Given the description of an element on the screen output the (x, y) to click on. 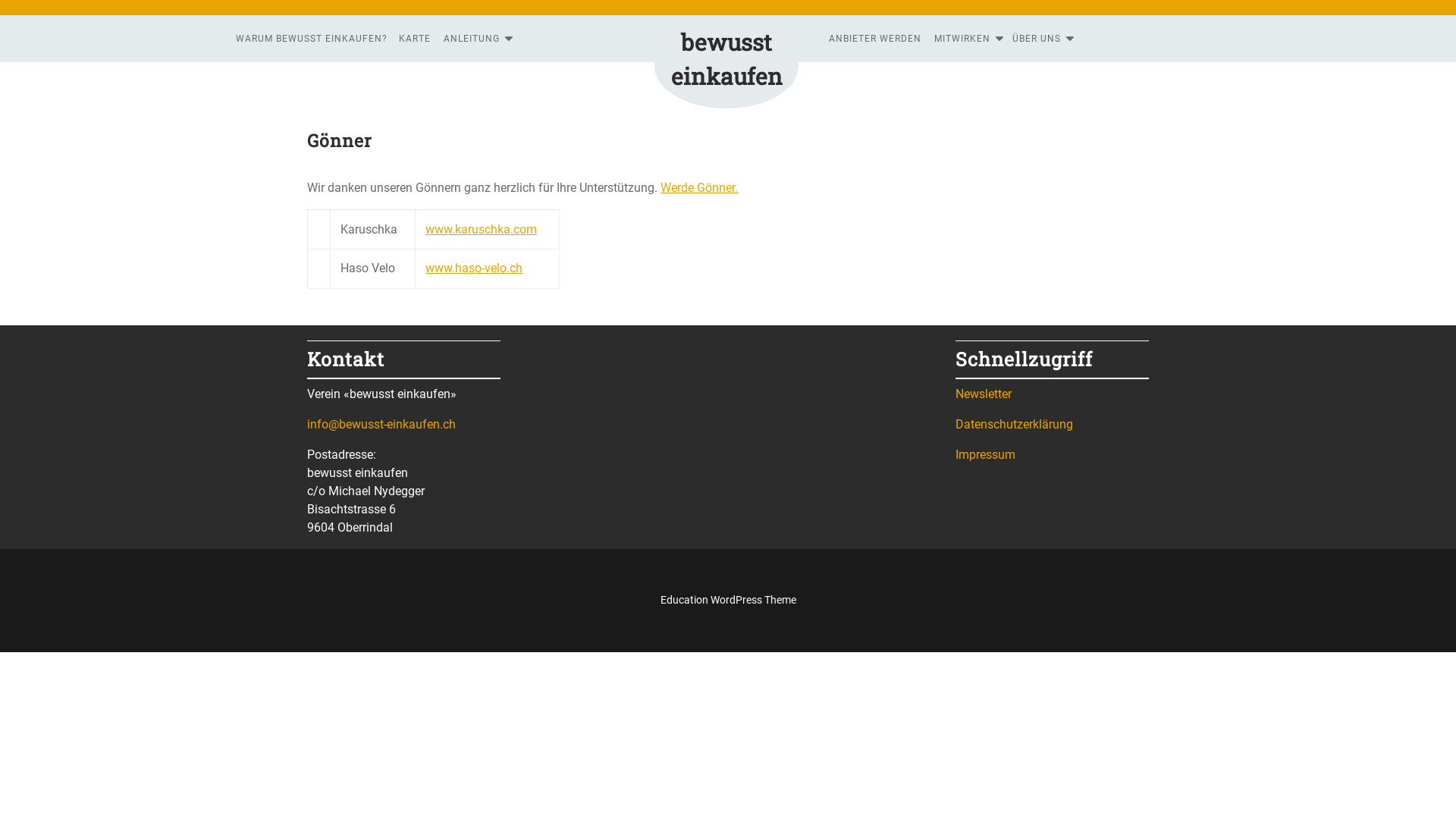
ANLEITUNG Element type: text (475, 38)
www.karuschka.com Element type: text (480, 229)
bewusst einkaufen Element type: text (726, 59)
ANBIETER WERDEN Element type: text (874, 38)
WARUM BEWUSST EINKAUFEN? Element type: text (311, 38)
www.haso-velo.ch Element type: text (473, 267)
Newsletter Element type: text (983, 393)
KARTE Element type: text (414, 38)
MITWIRKEN Element type: text (966, 38)
info@bewusst-einkaufen.ch Element type: text (381, 424)
Impressum Element type: text (985, 454)
Education WordPress Theme Element type: text (727, 599)
